Given the description of an element on the screen output the (x, y) to click on. 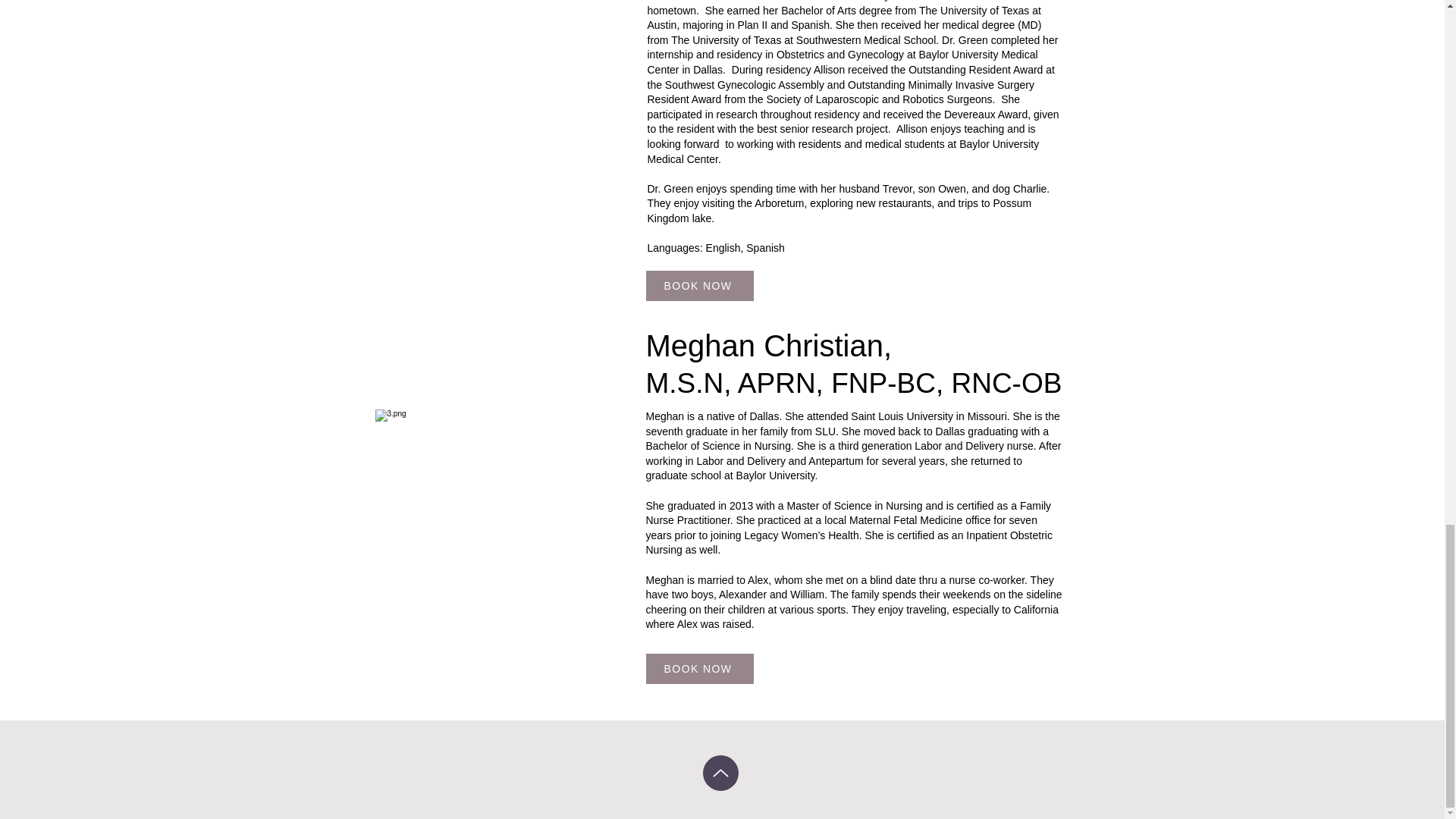
BOOK NOW (700, 668)
BOOK NOW (700, 286)
